Given the description of an element on the screen output the (x, y) to click on. 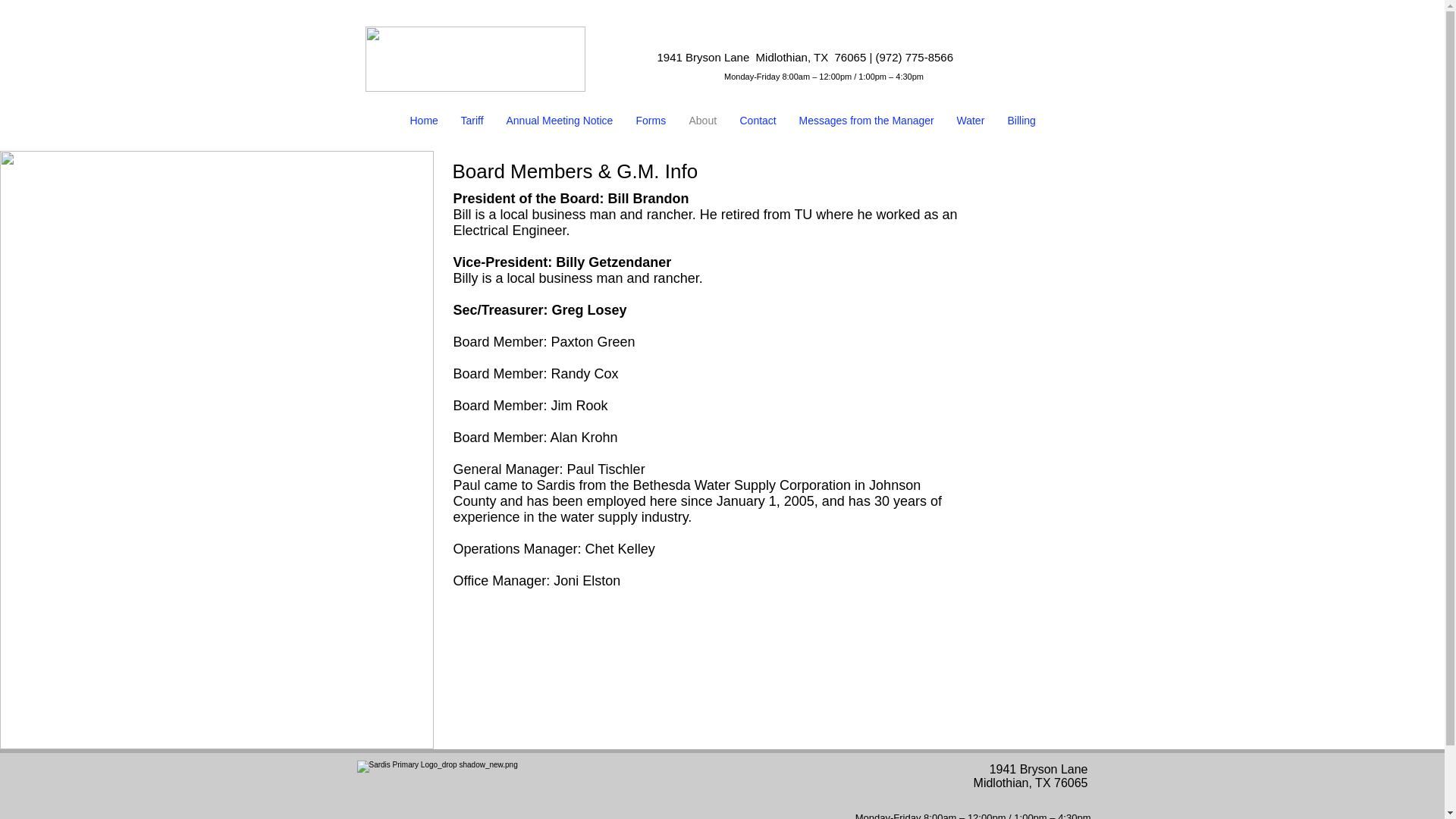
Contact (757, 120)
Tariff (471, 120)
Forms (651, 120)
Messages from the Manager (865, 120)
Home (423, 120)
1941 Bryson Lane   (705, 56)
About (703, 120)
Annual Meeting Notice (559, 120)
